Given the description of an element on the screen output the (x, y) to click on. 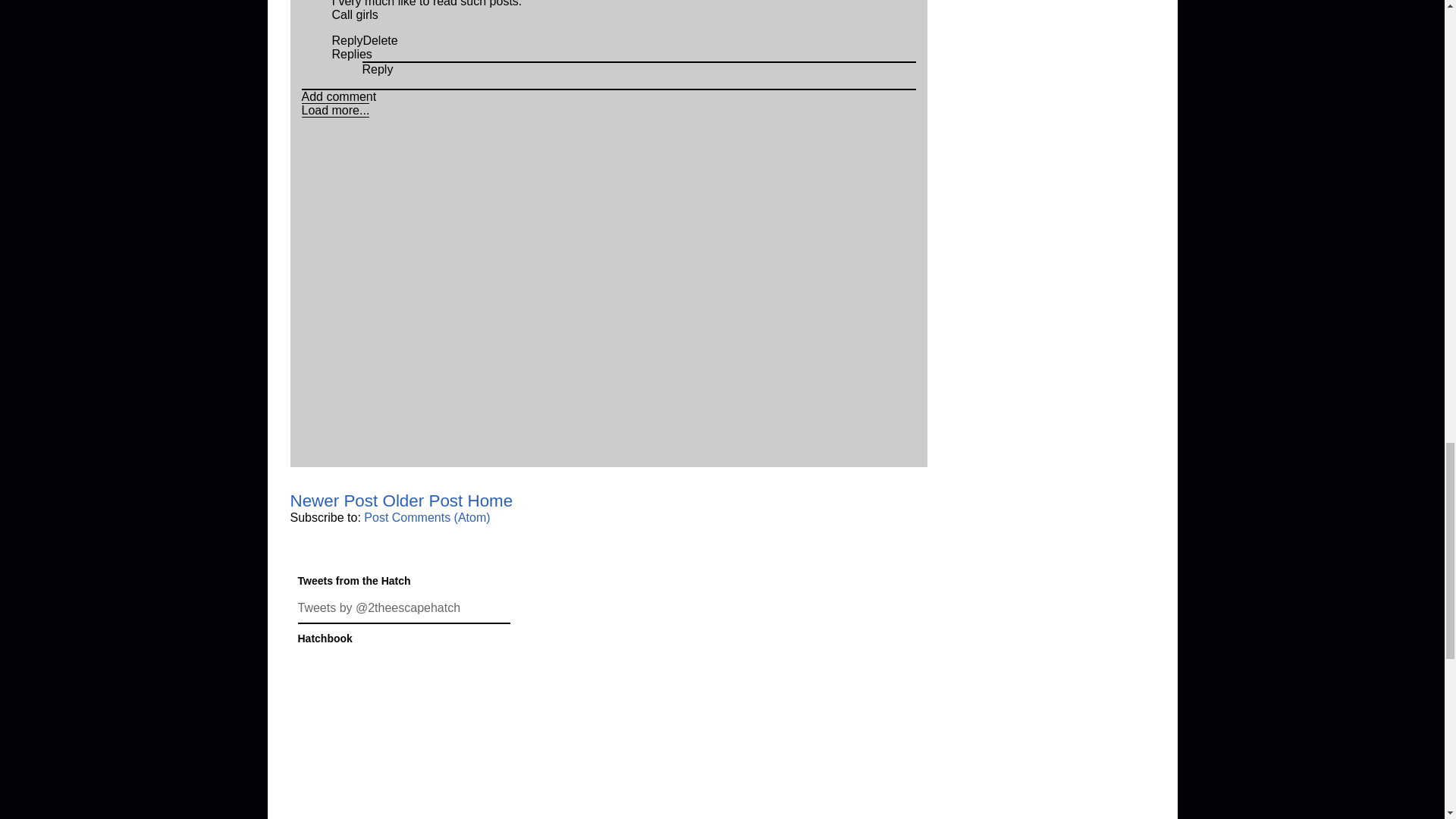
Replies (351, 53)
Delete (379, 40)
Reply (346, 40)
Call girls (354, 14)
Add comment (339, 96)
Older Post (422, 500)
Reply (377, 69)
Newer Post (333, 500)
Load more... (335, 110)
